Given the description of an element on the screen output the (x, y) to click on. 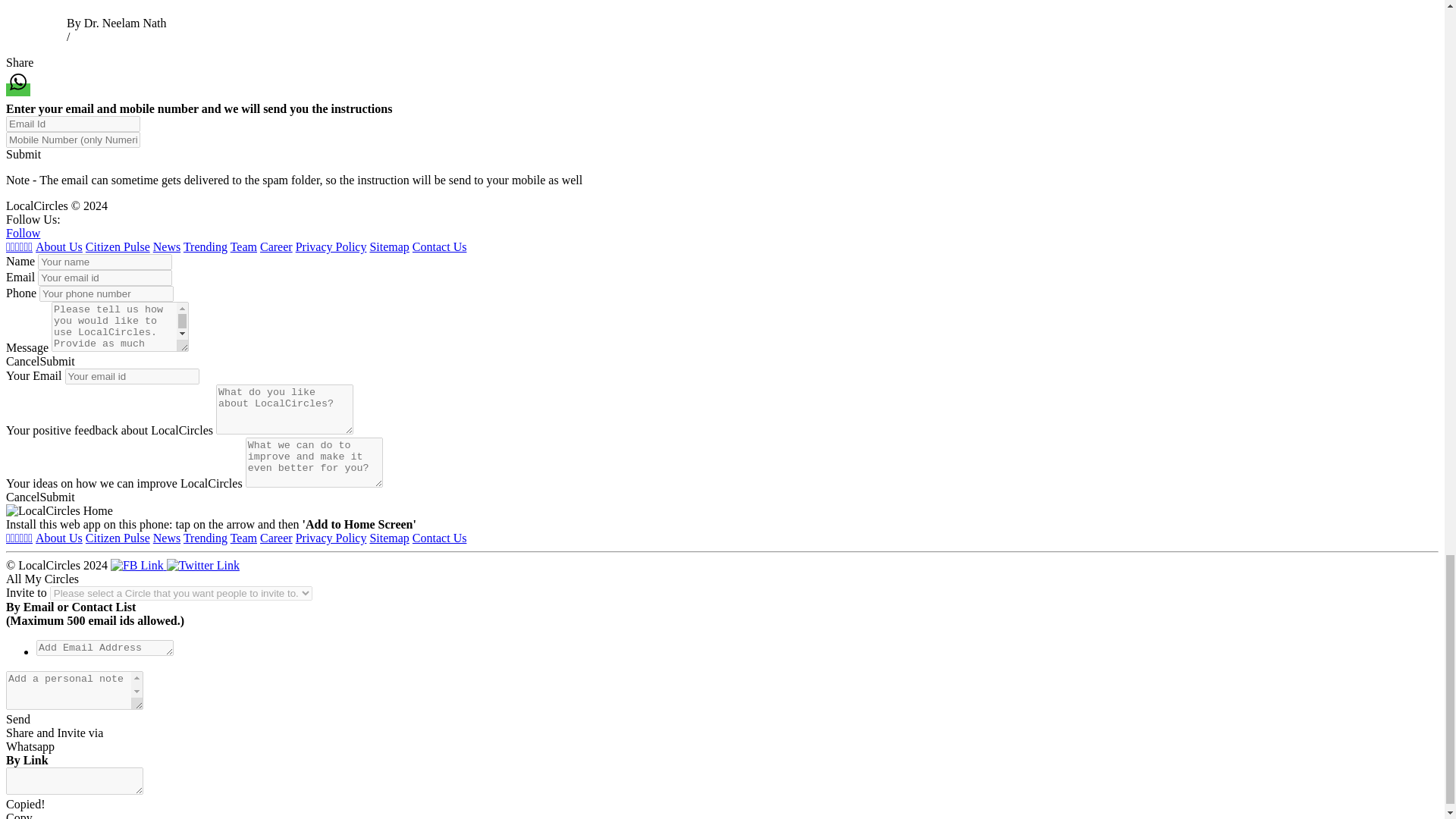
WhatsApp (17, 81)
